Given the description of an element on the screen output the (x, y) to click on. 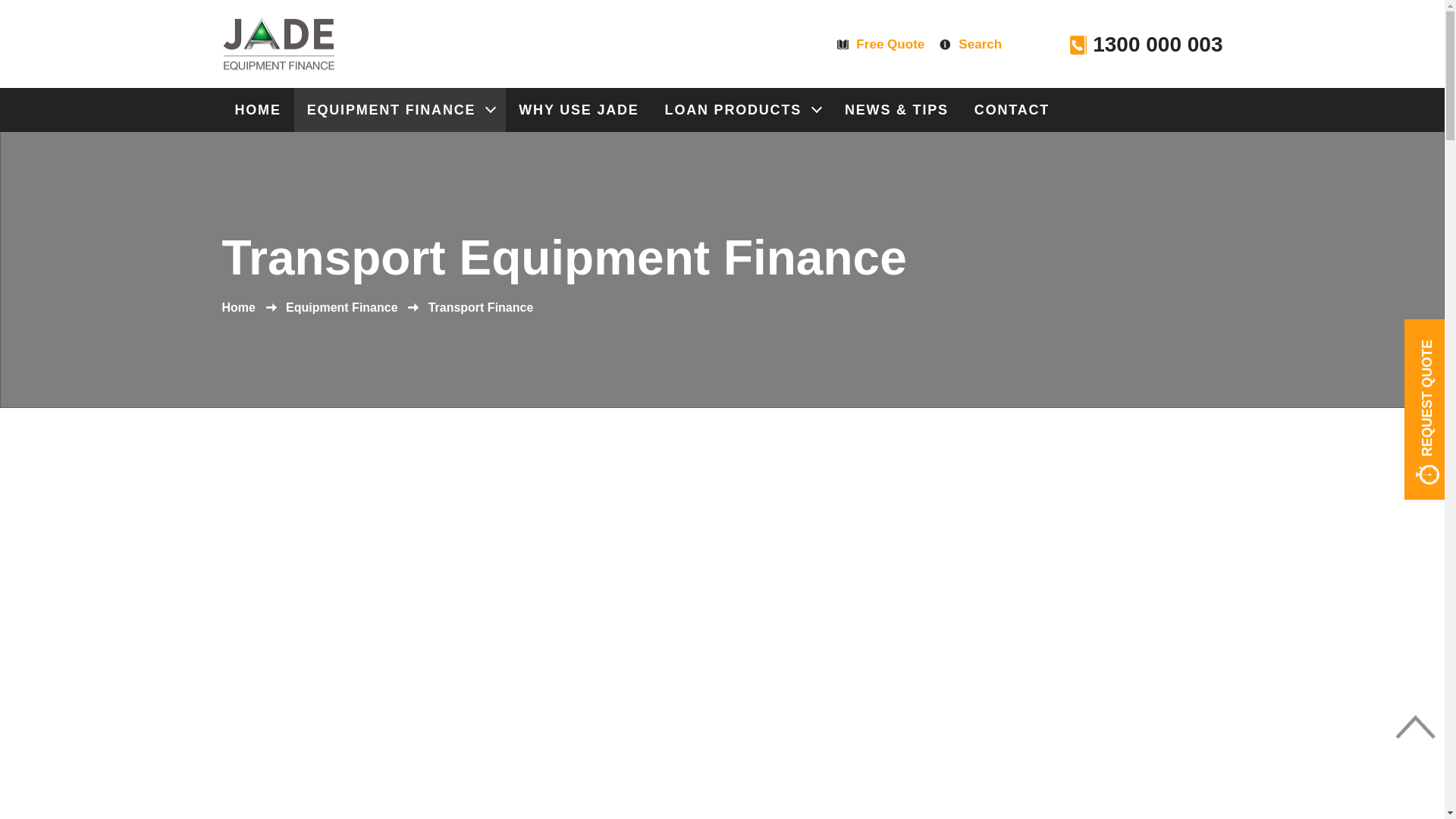
Transport Finance Element type: text (480, 307)
1300 000 003 Element type: text (1146, 44)
Search Element type: text (970, 44)
HOME Element type: text (257, 109)
LOAN PRODUCTS Element type: text (741, 109)
WHY USE JADE Element type: text (578, 109)
Equipment Finance Element type: text (341, 307)
Jade Equipment Loans Element type: text (278, 43)
Free Quote Element type: text (880, 44)
NEWS & TIPS Element type: text (896, 109)
EQUIPMENT FINANCE Element type: text (400, 109)
CONTACT Element type: text (1011, 109)
Home Element type: text (237, 307)
